Given the description of an element on the screen output the (x, y) to click on. 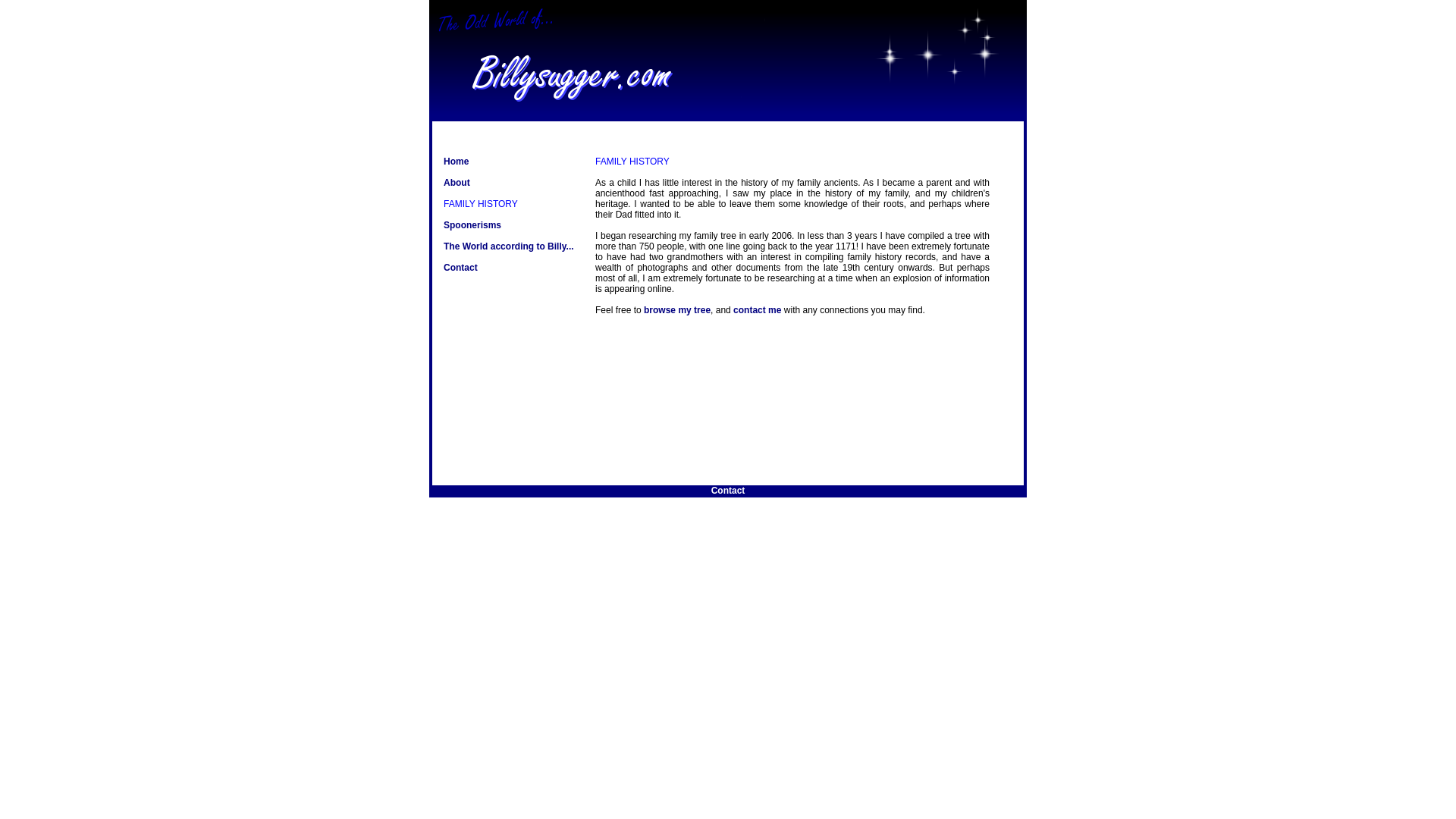
The World according to Billy... (508, 245)
Contact (460, 267)
Home (456, 161)
Contact (728, 490)
contact me (756, 309)
Spoonerisms (472, 225)
browse my tree (676, 309)
About (457, 182)
